Given the description of an element on the screen output the (x, y) to click on. 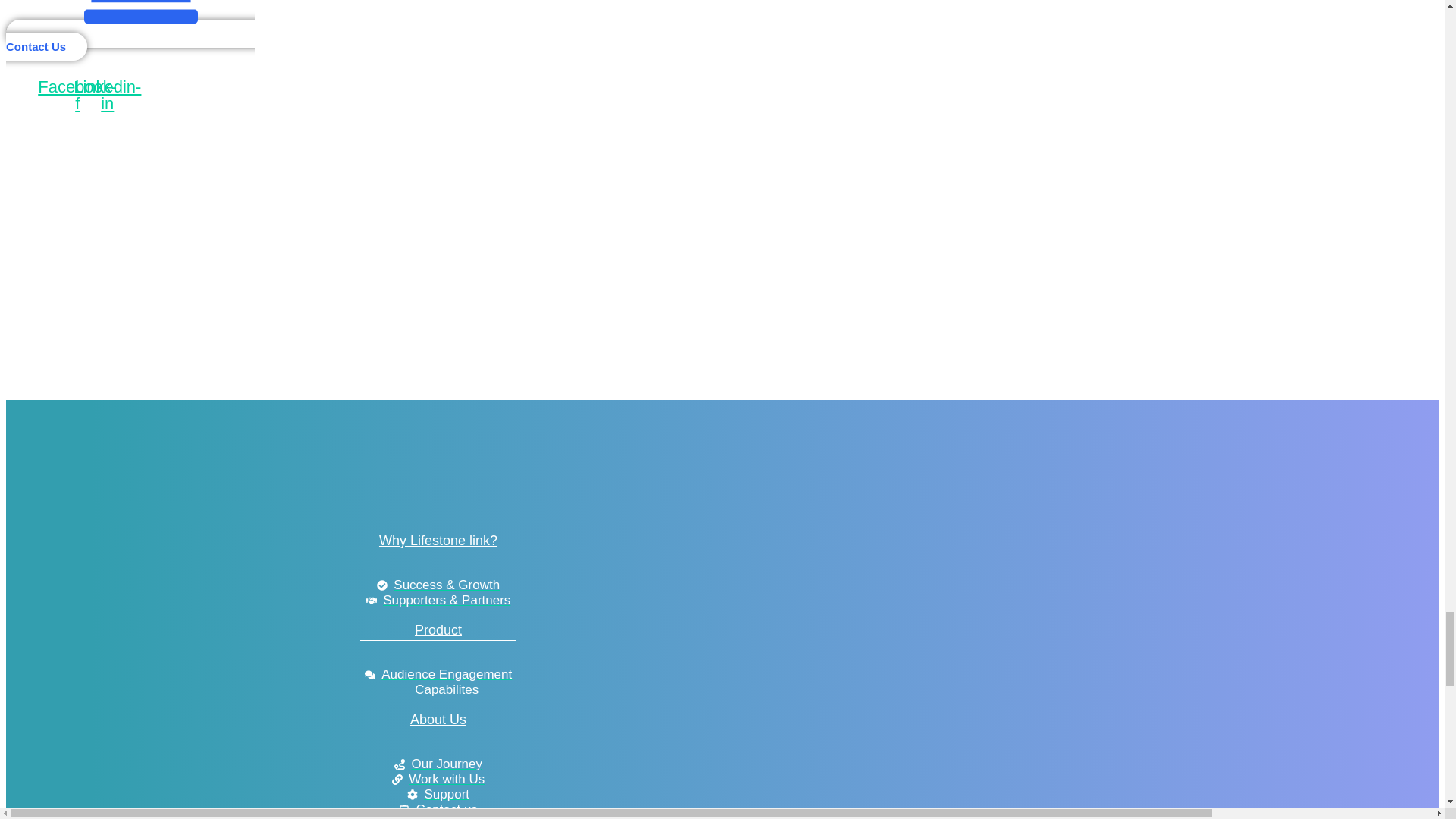
Why Lifestone link? (437, 540)
Linkedin-in (107, 95)
Facebook-f (77, 95)
Contact Us (129, 39)
